Given the description of an element on the screen output the (x, y) to click on. 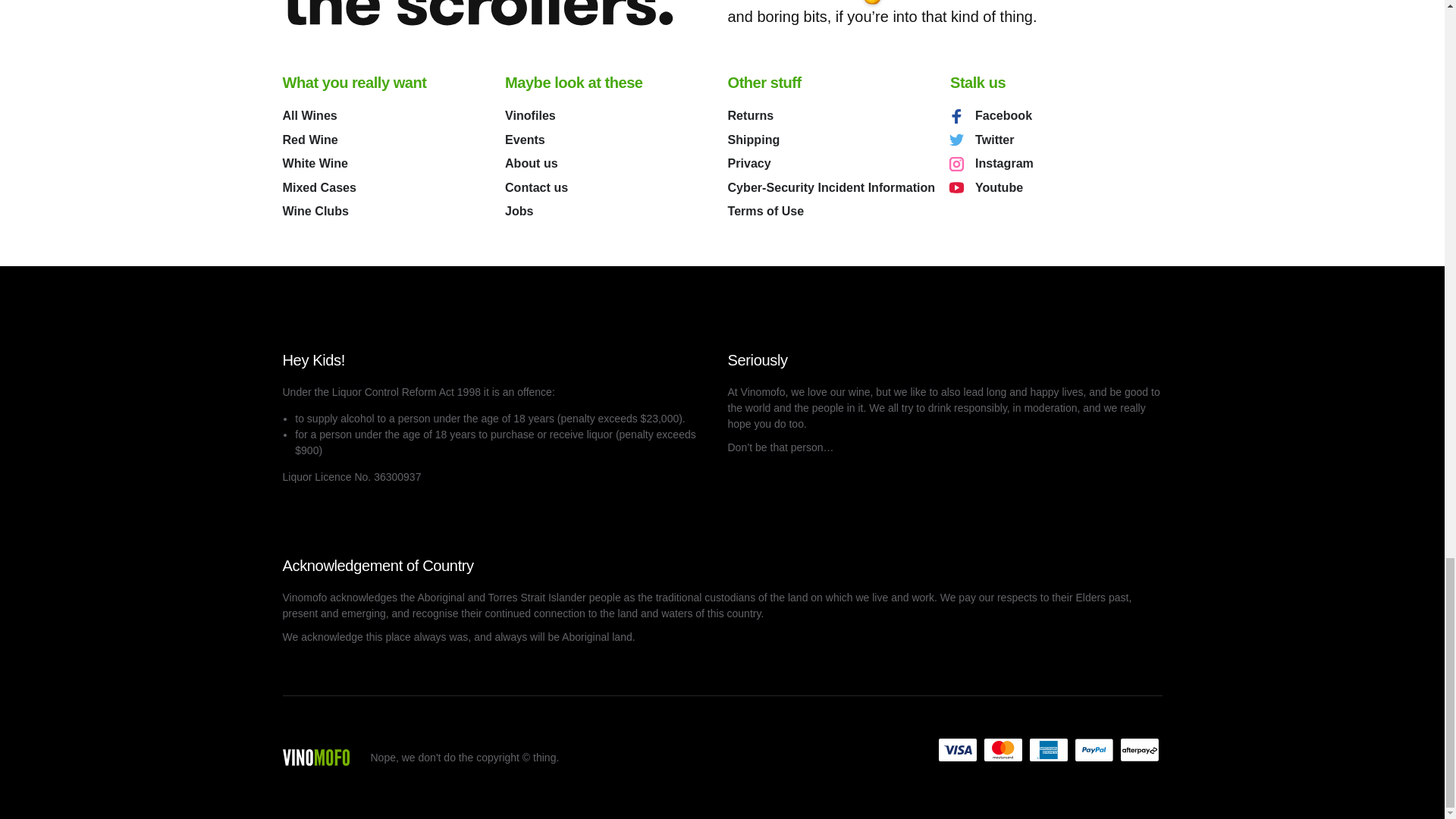
Returns (834, 115)
Privacy (834, 163)
Terms of Use (834, 211)
Shipping (834, 139)
Vinofiles (611, 115)
Red Wine (388, 139)
All Wines (388, 115)
Cyber-Security Incident Information (834, 187)
Wine Clubs (388, 211)
About us (611, 163)
Contact us (611, 187)
Jobs (611, 211)
White Wine (388, 163)
Mixed Cases (388, 187)
Events (611, 139)
